Given the description of an element on the screen output the (x, y) to click on. 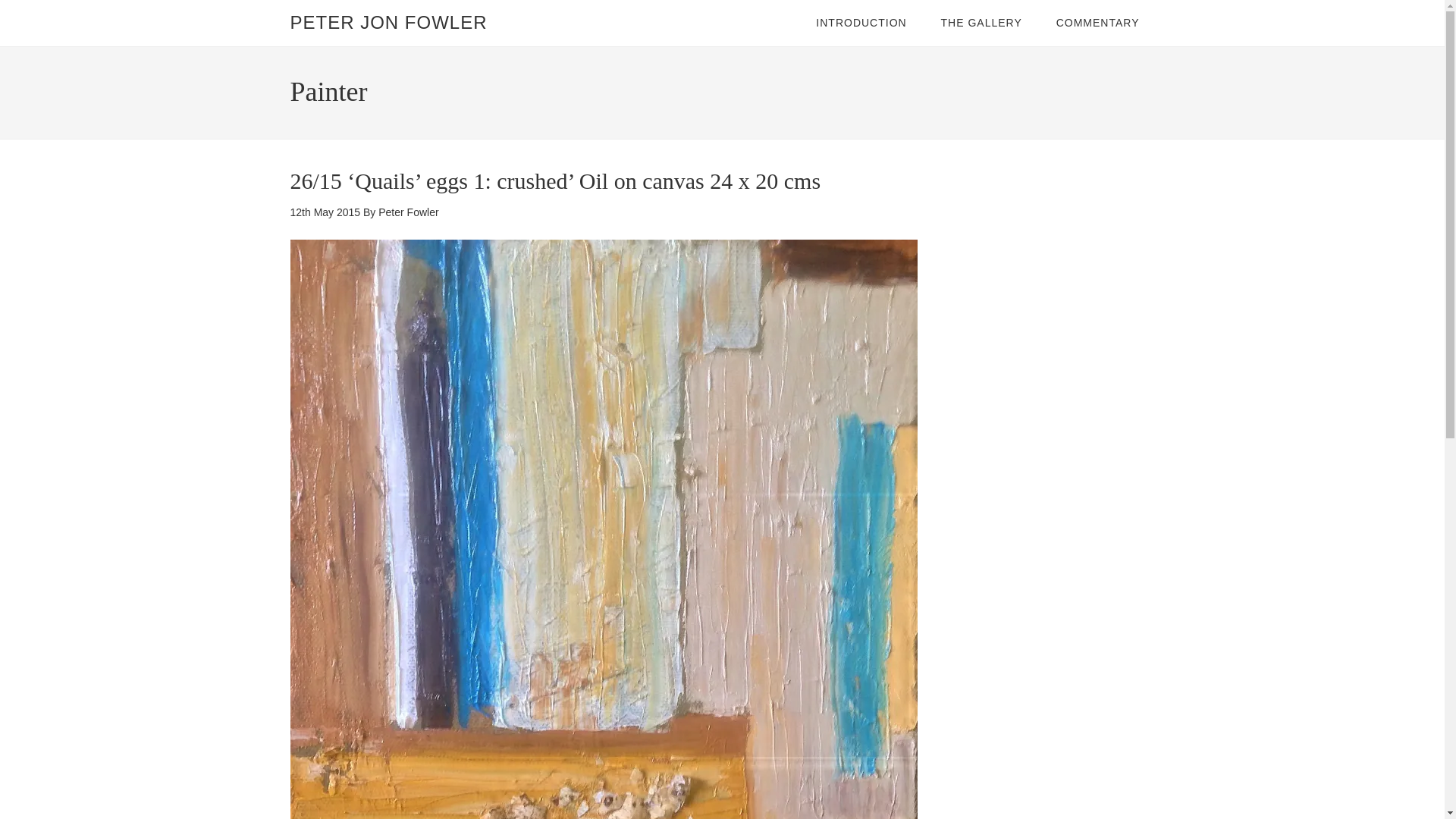
INTRODUCTION (860, 22)
Peter Fowler (408, 212)
PETER JON FOWLER (387, 22)
COMMENTARY (1097, 22)
THE GALLERY (981, 22)
